Given the description of an element on the screen output the (x, y) to click on. 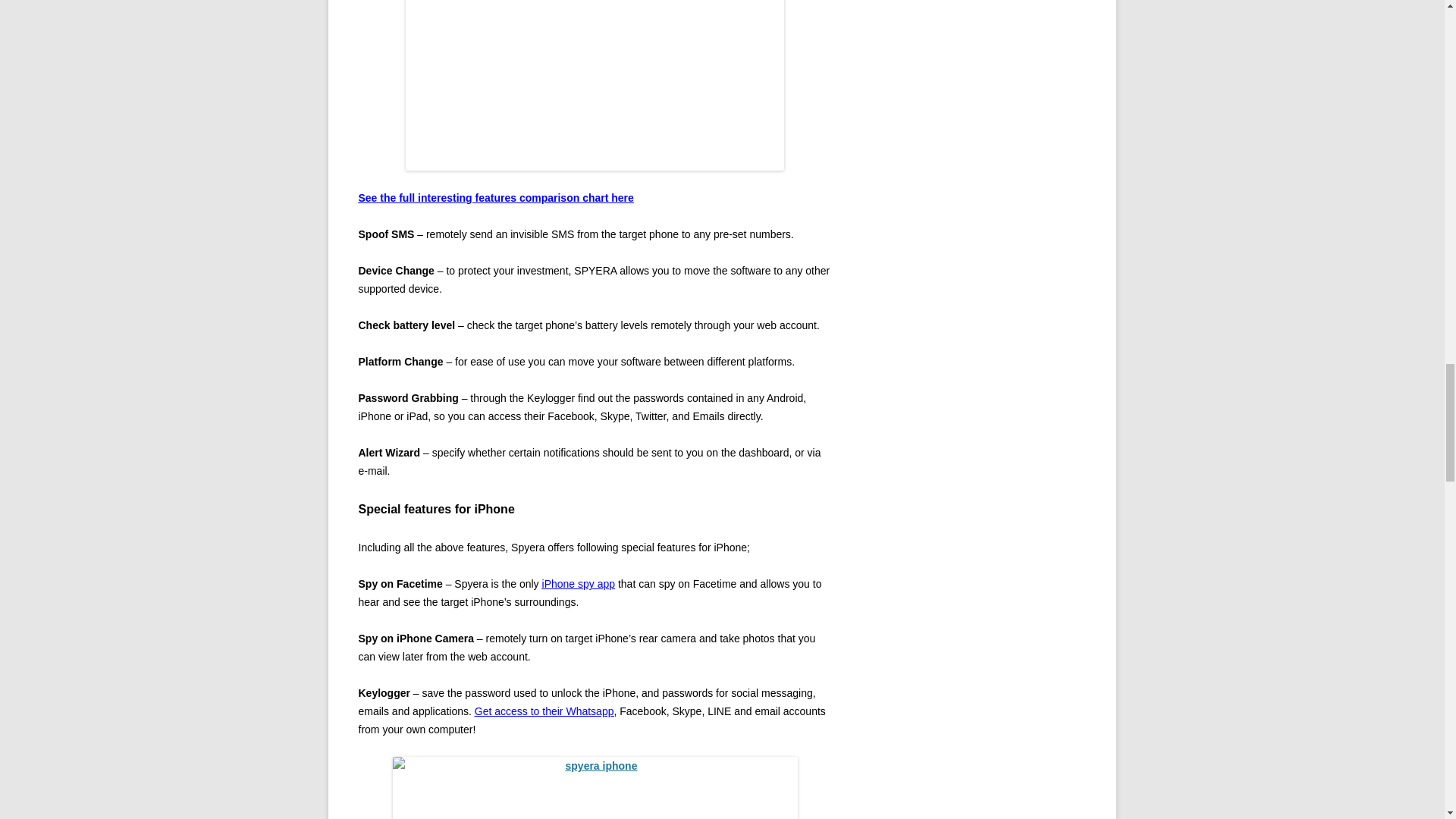
comparison chart (495, 197)
monitor their whatsapp messages (544, 711)
iphone spy app (578, 583)
iPhone spy app (578, 583)
Get access to their Whatsapp (544, 711)
See the full interesting features comparison chart here (495, 197)
